Given the description of an element on the screen output the (x, y) to click on. 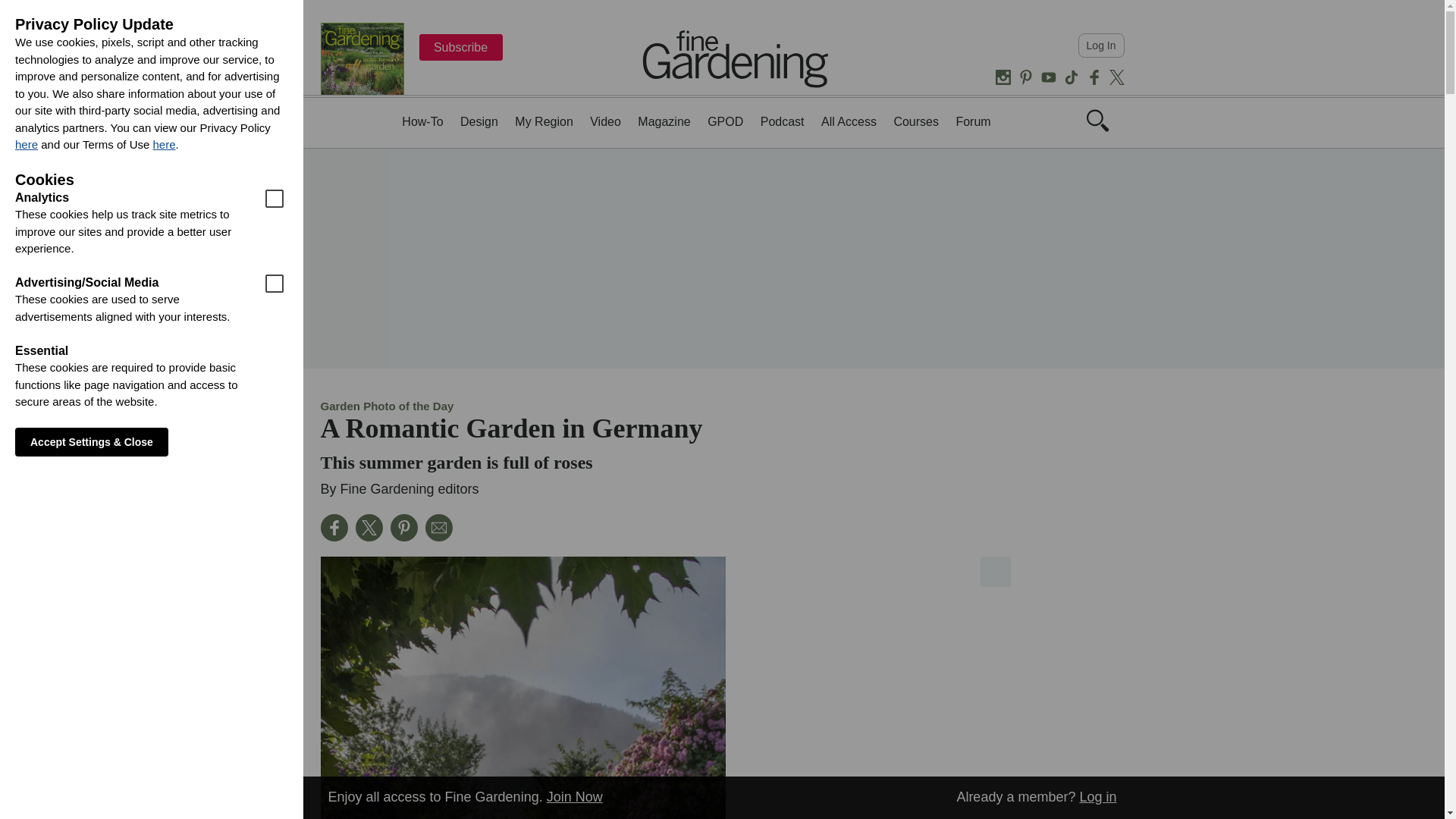
Twitter (1116, 77)
Design (478, 121)
Open Search (1097, 119)
Open Search (1097, 127)
TikTok (1070, 77)
Magazine (663, 121)
Facebook (1093, 77)
Log In (1101, 45)
Subscribe (460, 47)
Pinterest (1024, 77)
